Given the description of an element on the screen output the (x, y) to click on. 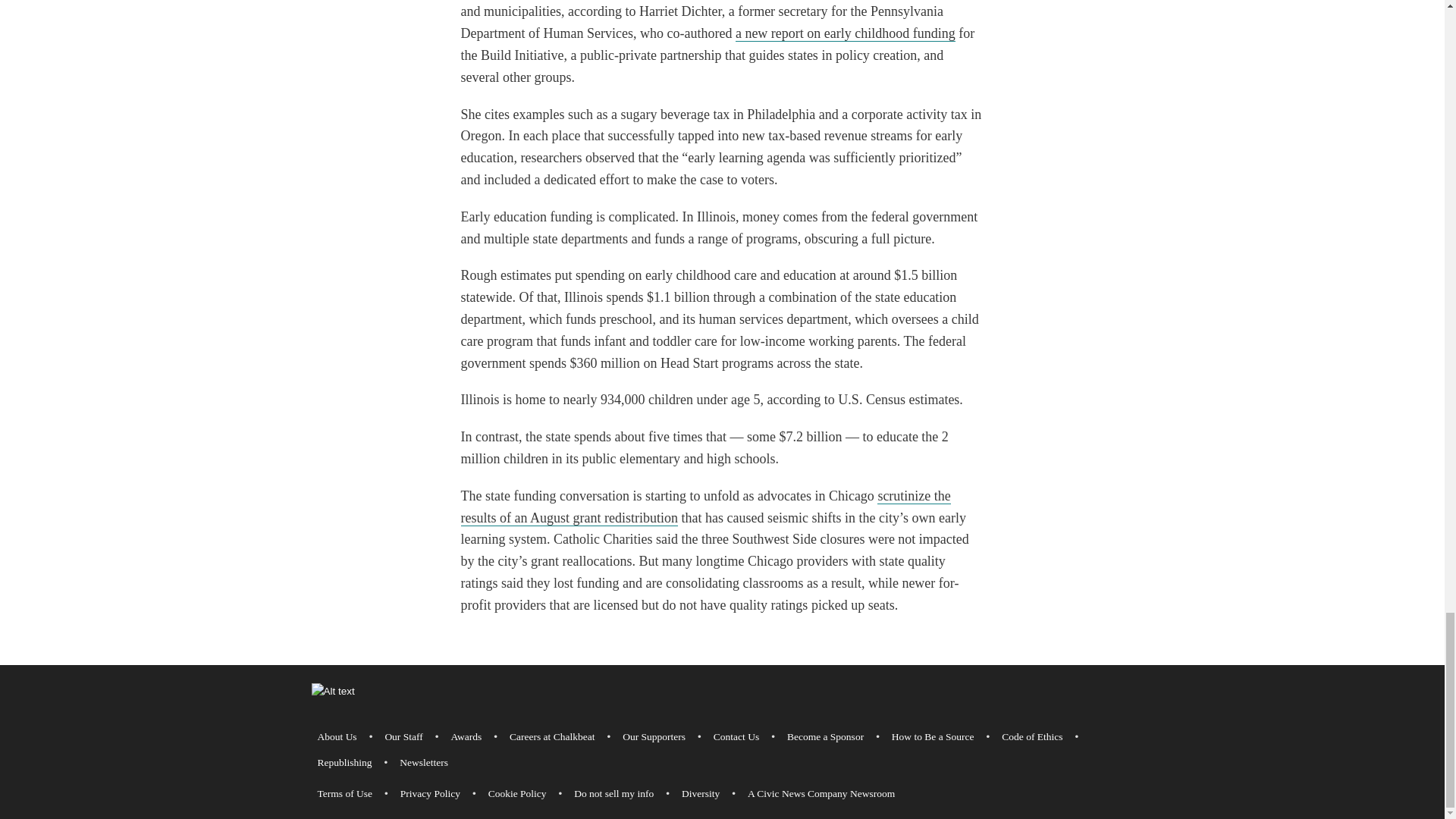
Our Staff (403, 736)
Privacy Policy (429, 793)
About Us (336, 736)
Careers at Chalkbeat (551, 736)
Do not sell my info (613, 793)
Become a Sponsor (824, 736)
A Civic News Company Newsroom (821, 793)
a new report on early childhood funding (845, 33)
Newsletters (423, 762)
Diversity (700, 793)
